Given the description of an element on the screen output the (x, y) to click on. 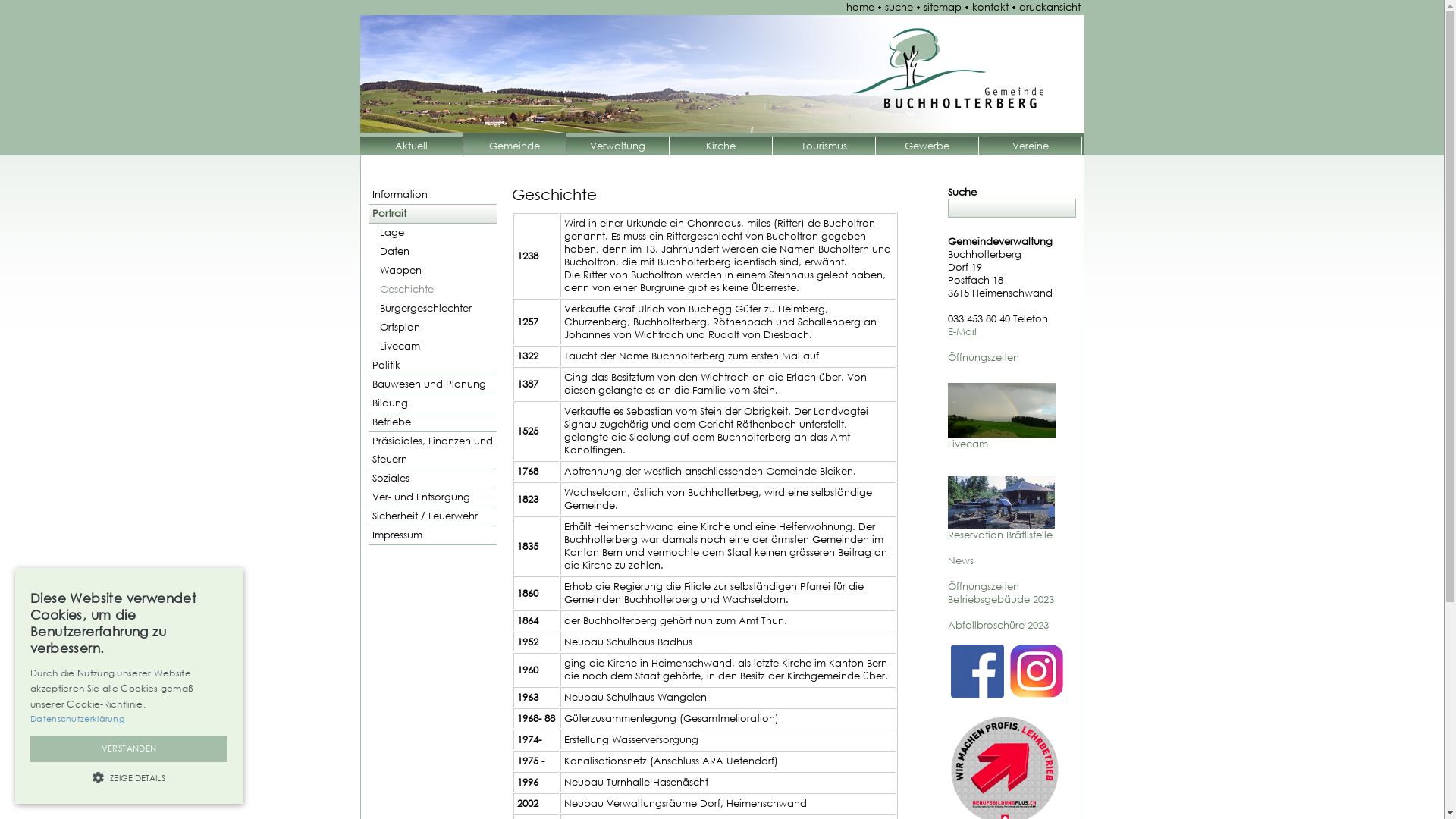
Gewerbe Element type: text (927, 145)
Lage Element type: text (432, 232)
Betriebe Element type: text (432, 422)
Impressum Element type: text (432, 535)
Kirche Element type: text (720, 145)
Livecam Element type: text (967, 443)
Bauwesen und Planung Element type: text (432, 384)
Daten Element type: text (432, 251)
Geschichte Element type: text (432, 289)
Aktuell Element type: text (411, 145)
Politik Element type: text (432, 365)
Burgergeschlechter Element type: text (432, 308)
Ver- und Entsorgung Element type: text (432, 497)
Information Element type: text (432, 194)
Soziales Element type: text (432, 478)
sitemap Element type: text (944, 6)
Livecam Element type: text (432, 346)
Tourismus Element type: text (823, 145)
Portrait Element type: text (432, 213)
Wappen Element type: text (432, 270)
kontakt Element type: text (992, 6)
druckansicht Element type: text (1051, 6)
E-Mail Element type: text (961, 331)
suche Element type: text (900, 6)
Gemeinde Element type: text (514, 143)
Bildung Element type: text (432, 403)
Verwaltung Element type: text (617, 145)
Vereine Element type: text (1030, 145)
News Element type: text (960, 560)
Sicherheit / Feuerwehr Element type: text (432, 516)
Ortsplan Element type: text (432, 327)
home Element type: text (862, 6)
